Given the description of an element on the screen output the (x, y) to click on. 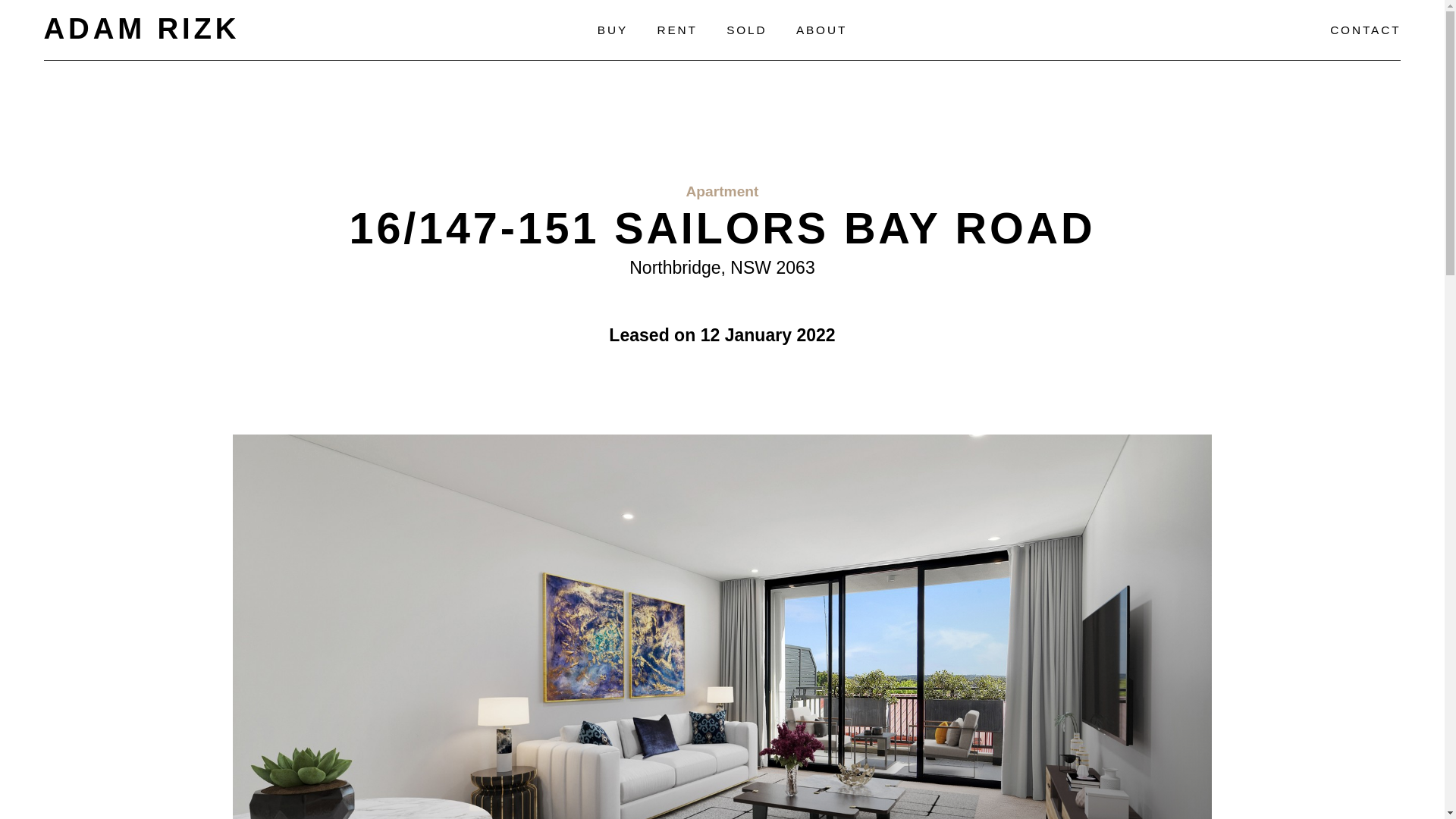
CONTACT (1365, 29)
Buy (613, 29)
ADAM RIZK (141, 28)
BUY (613, 29)
Adam Rizk (141, 28)
SOLD (746, 29)
ABOUT (821, 29)
Sold (746, 29)
RENT (676, 29)
About (821, 29)
Rent (676, 29)
